Given the description of an element on the screen output the (x, y) to click on. 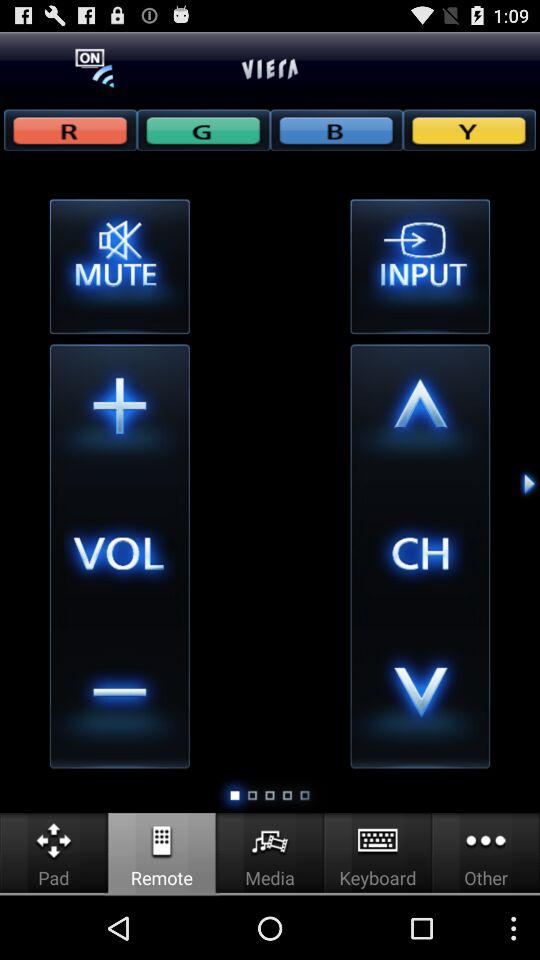
turn volume down (119, 698)
